Given the description of an element on the screen output the (x, y) to click on. 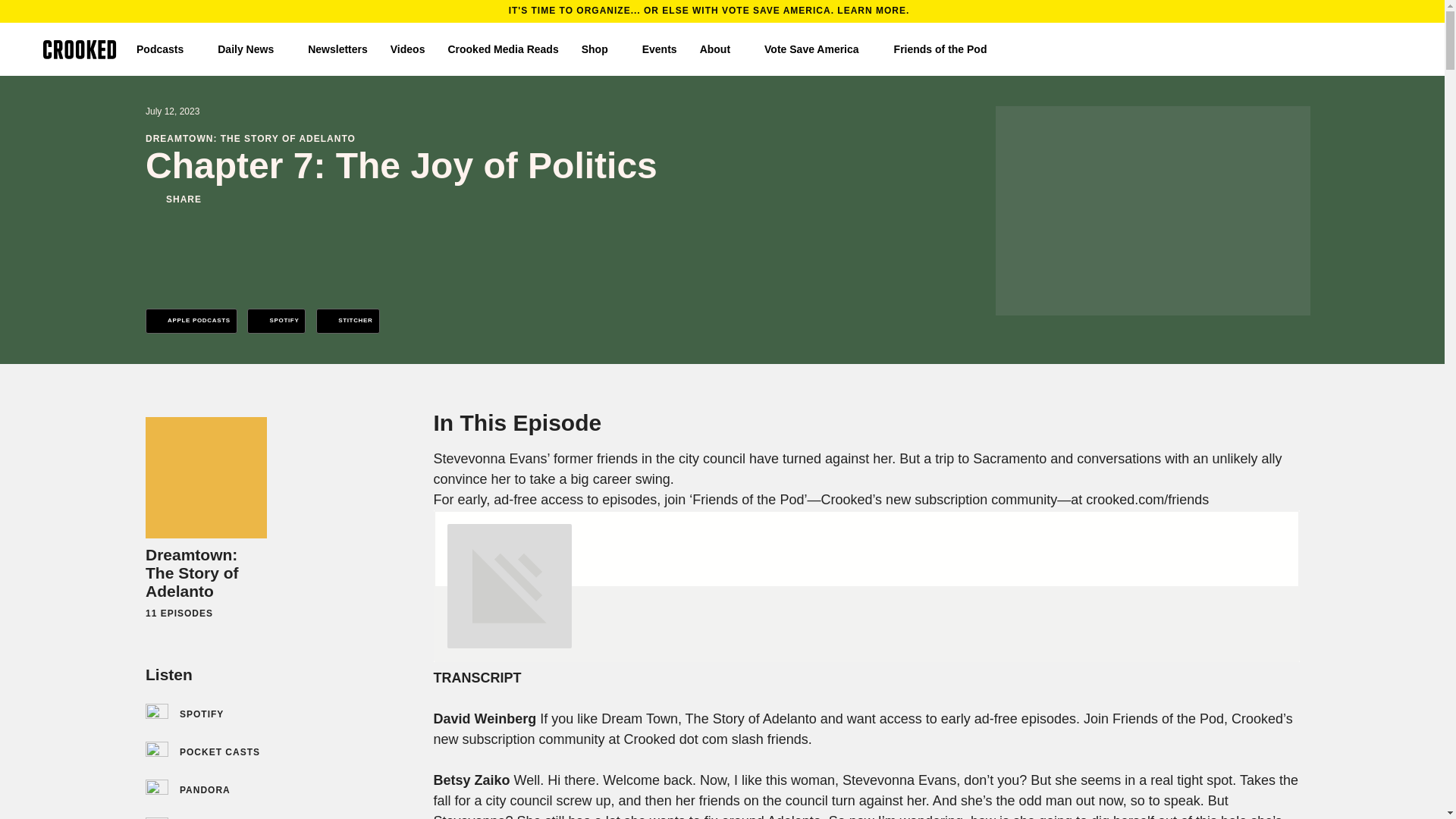
Crooked Media Reads (501, 48)
Shop (600, 48)
Newsletters (337, 48)
About (720, 48)
Videos (407, 48)
Podcasts (165, 48)
Friends of the Pod (945, 48)
Vote Save America (817, 48)
Daily News (250, 48)
Events (659, 48)
